Given the description of an element on the screen output the (x, y) to click on. 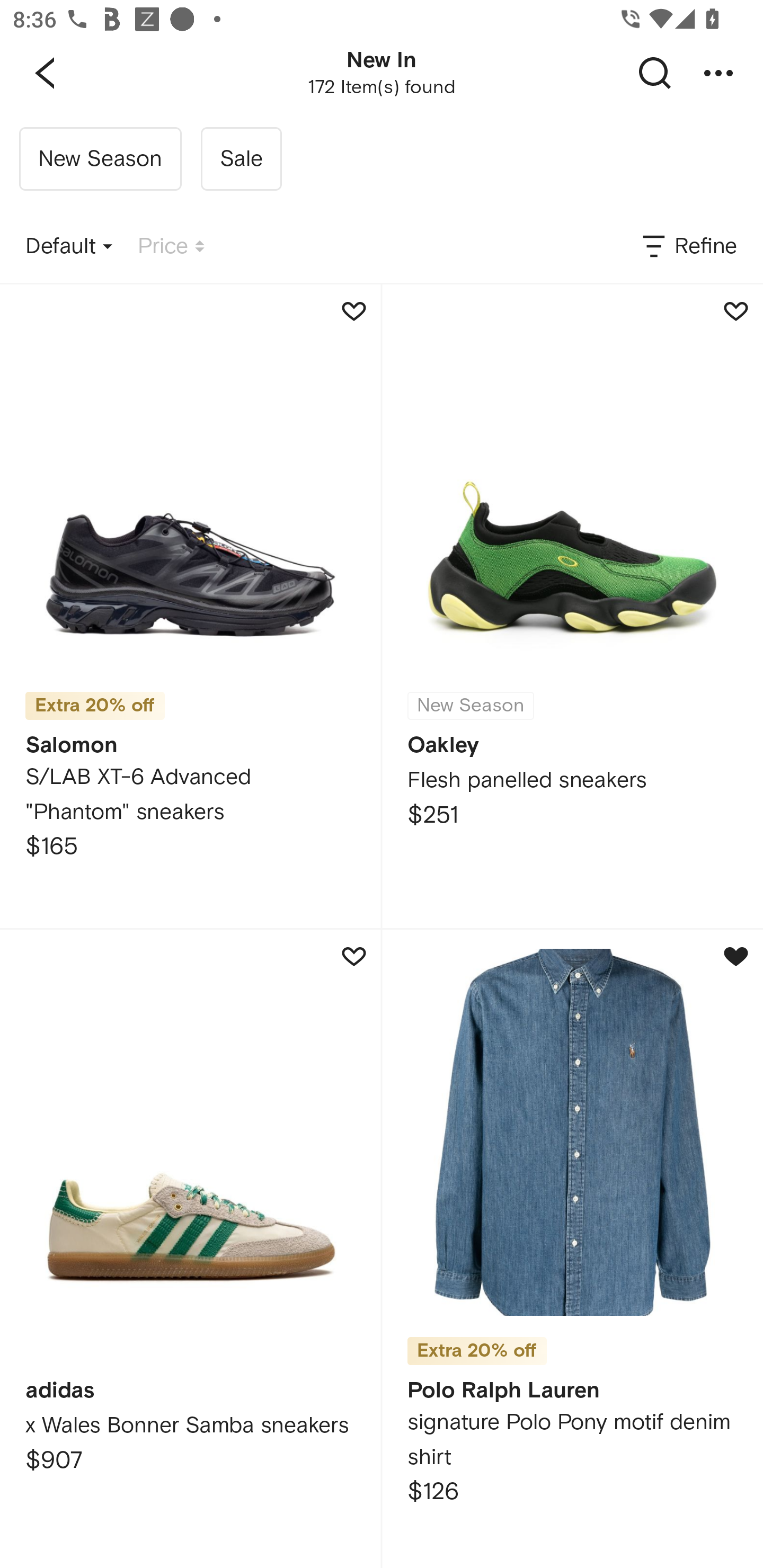
New Season (100, 158)
Sale (240, 158)
Default (68, 246)
Price (171, 246)
Refine (688, 246)
New Season Oakley Flesh panelled sneakers $251 (572, 605)
Extra 20% off (94, 705)
adidas x Wales Bonner Samba sneakers $907 (190, 1248)
Extra 20% off (477, 1344)
